Given the description of an element on the screen output the (x, y) to click on. 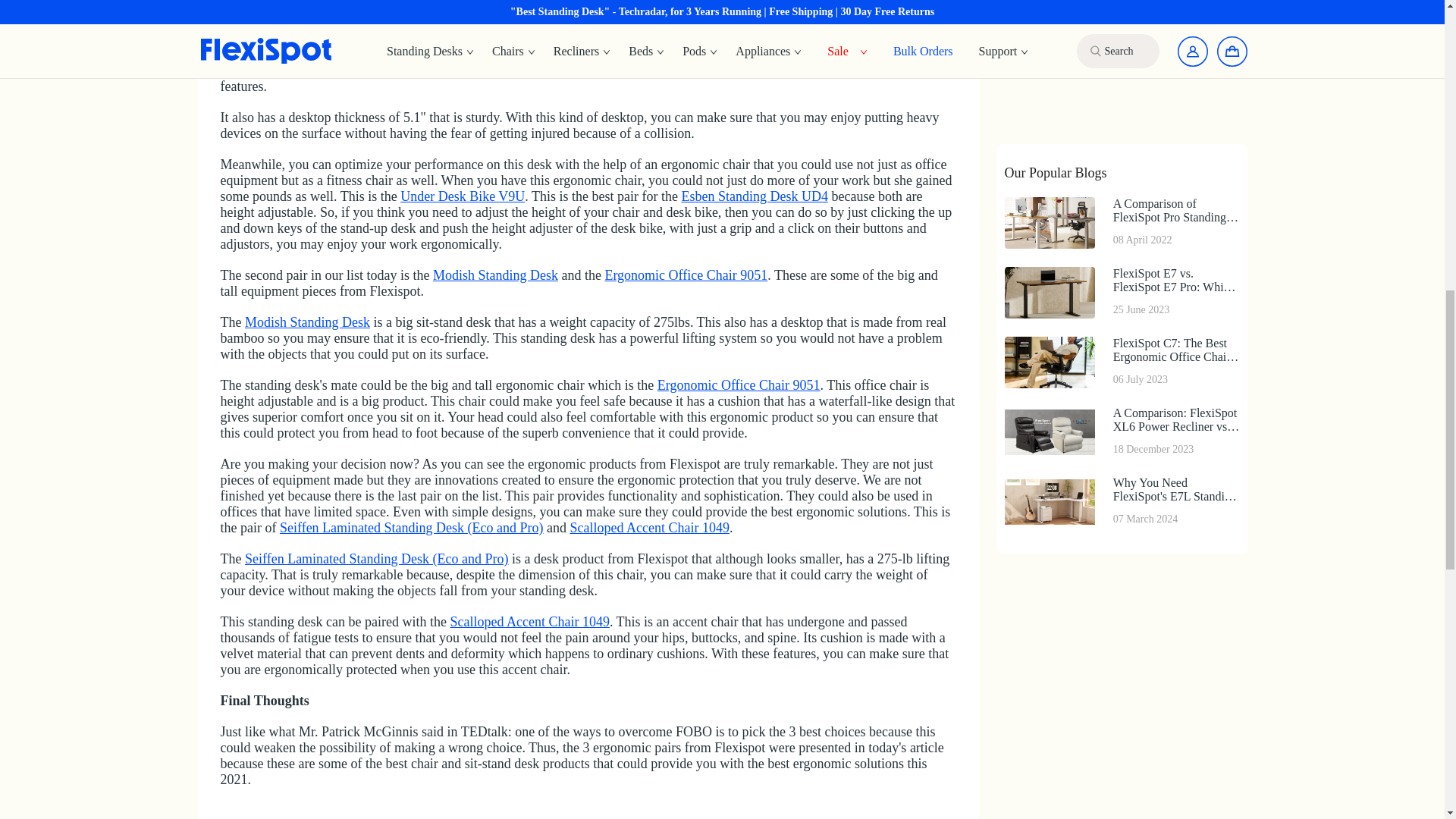
Esben Standing Desk UD4 (754, 196)
Scalloped Accent Chair 1049 (649, 527)
Under Desk Bike V9U (462, 196)
Scalloped Accent Chair 1049 (528, 621)
Ergonomic Office Chair 9051 (685, 274)
Ergonomic Office Chair 9051 (739, 385)
Modish Standing Desk (494, 274)
Modish Standing Desk (306, 322)
